Given the description of an element on the screen output the (x, y) to click on. 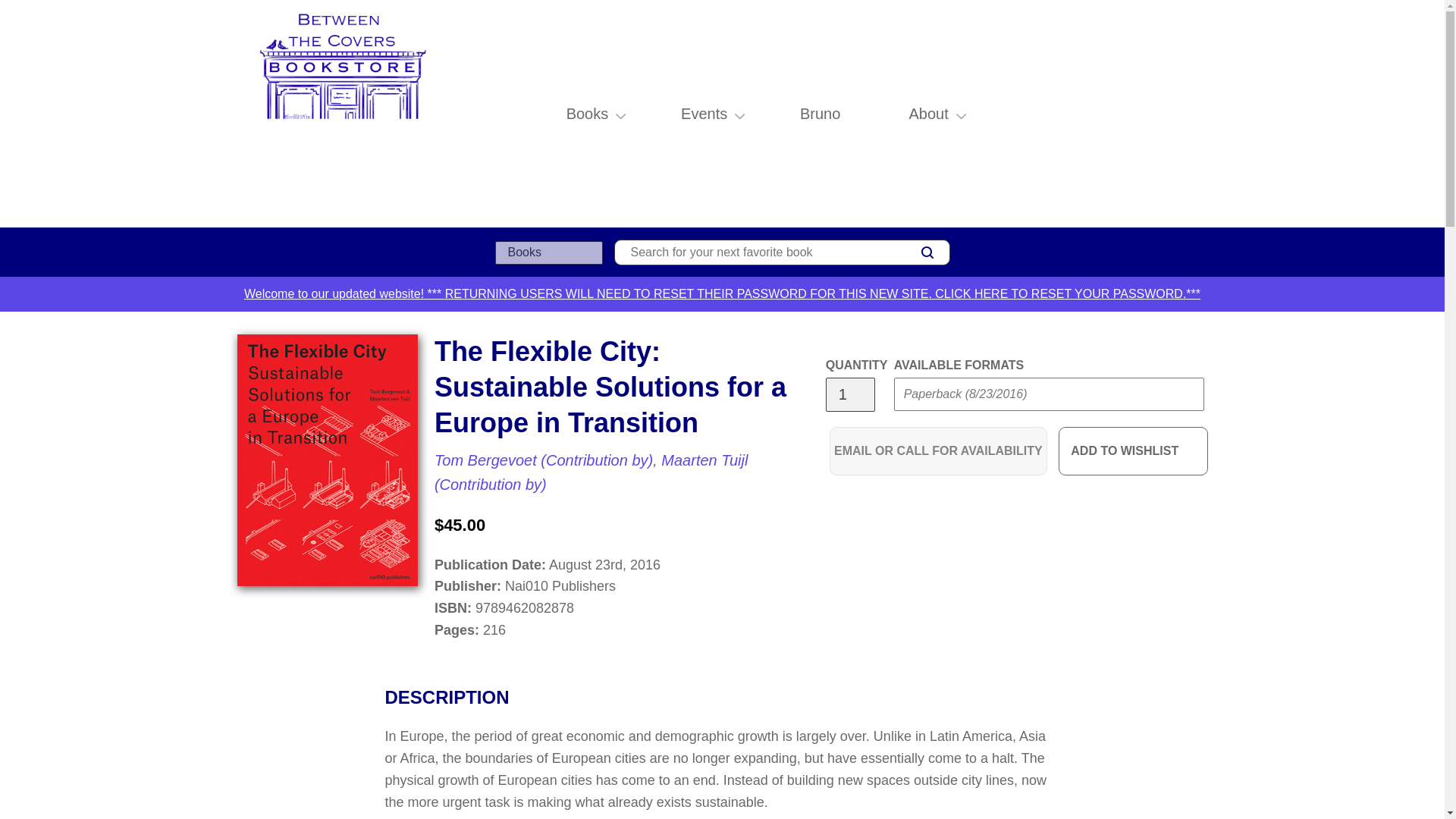
Cart (1201, 113)
Wishlists (1168, 113)
Events (703, 113)
Email or Call for Availability (937, 450)
Cart (1201, 113)
Email or Call for Availability (937, 450)
Books (587, 113)
1 (850, 394)
Log in (1134, 113)
Log in (1134, 113)
Submit (922, 424)
ADD TO WISHLIST (1133, 450)
Wishlist (1168, 113)
SEARCH (926, 252)
